Given the description of an element on the screen output the (x, y) to click on. 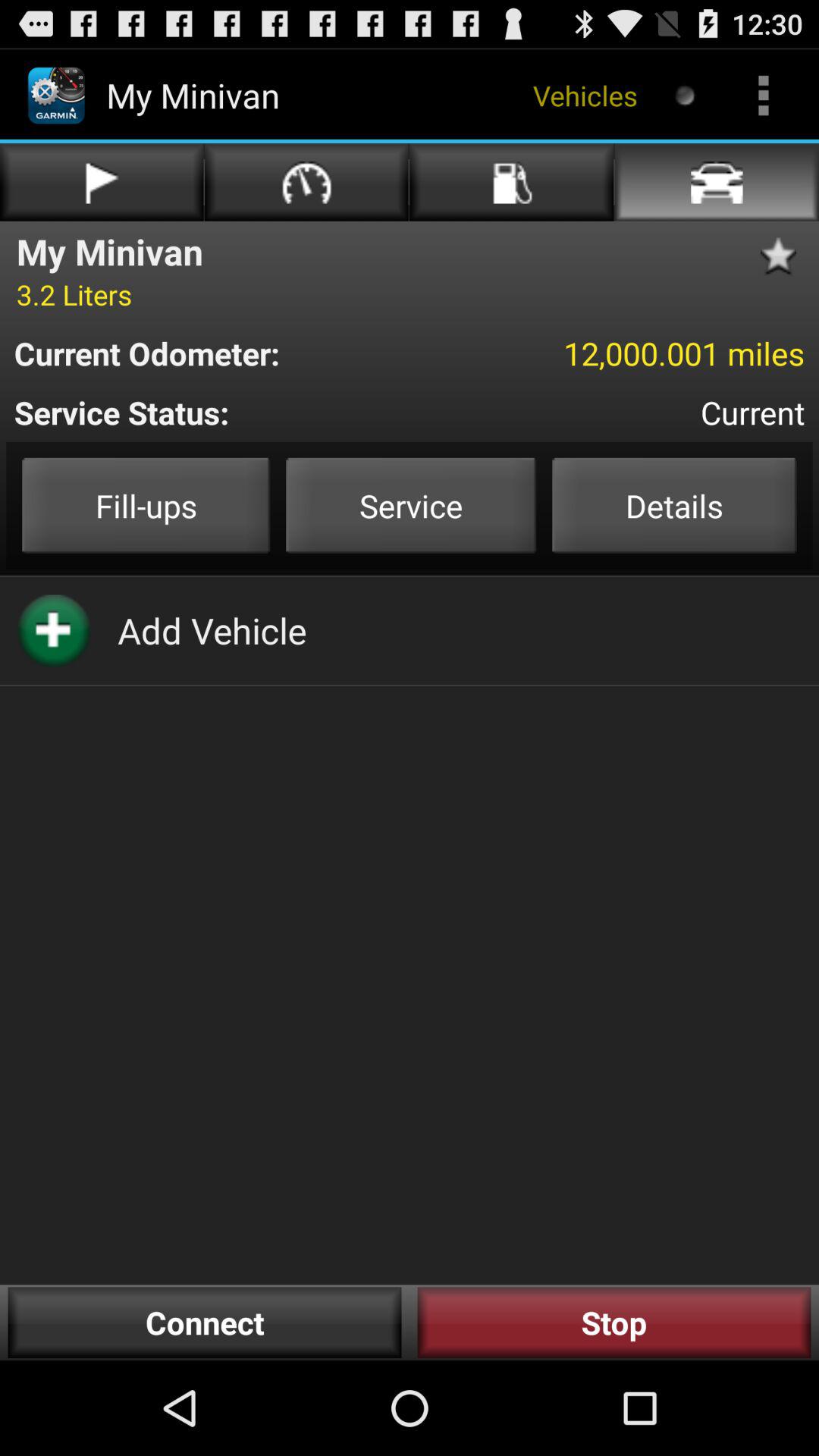
launch the item to the left of current item (239, 411)
